Given the description of an element on the screen output the (x, y) to click on. 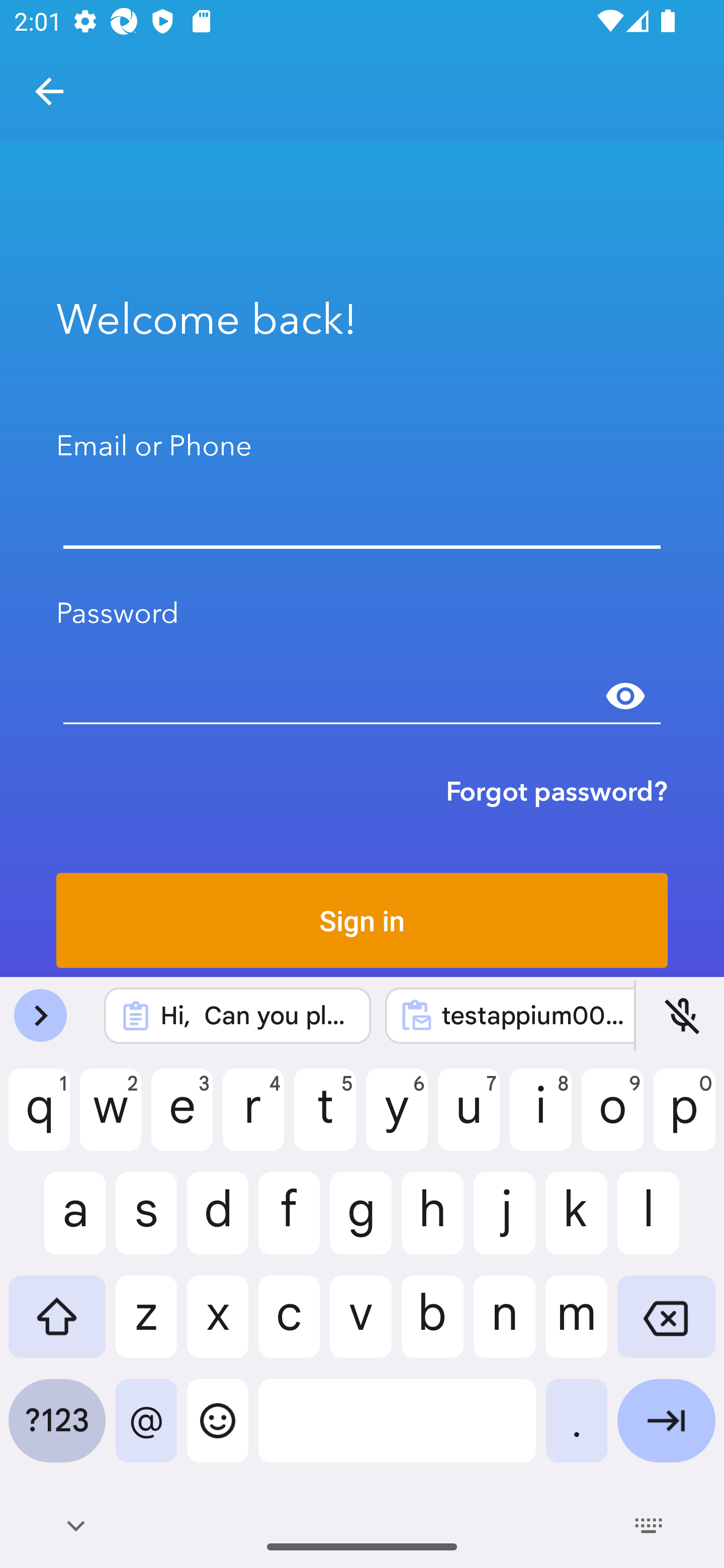
Navigate up (49, 91)
Show password (625, 695)
Forgot password? (556, 790)
Sign in (361, 920)
